Given the description of an element on the screen output the (x, y) to click on. 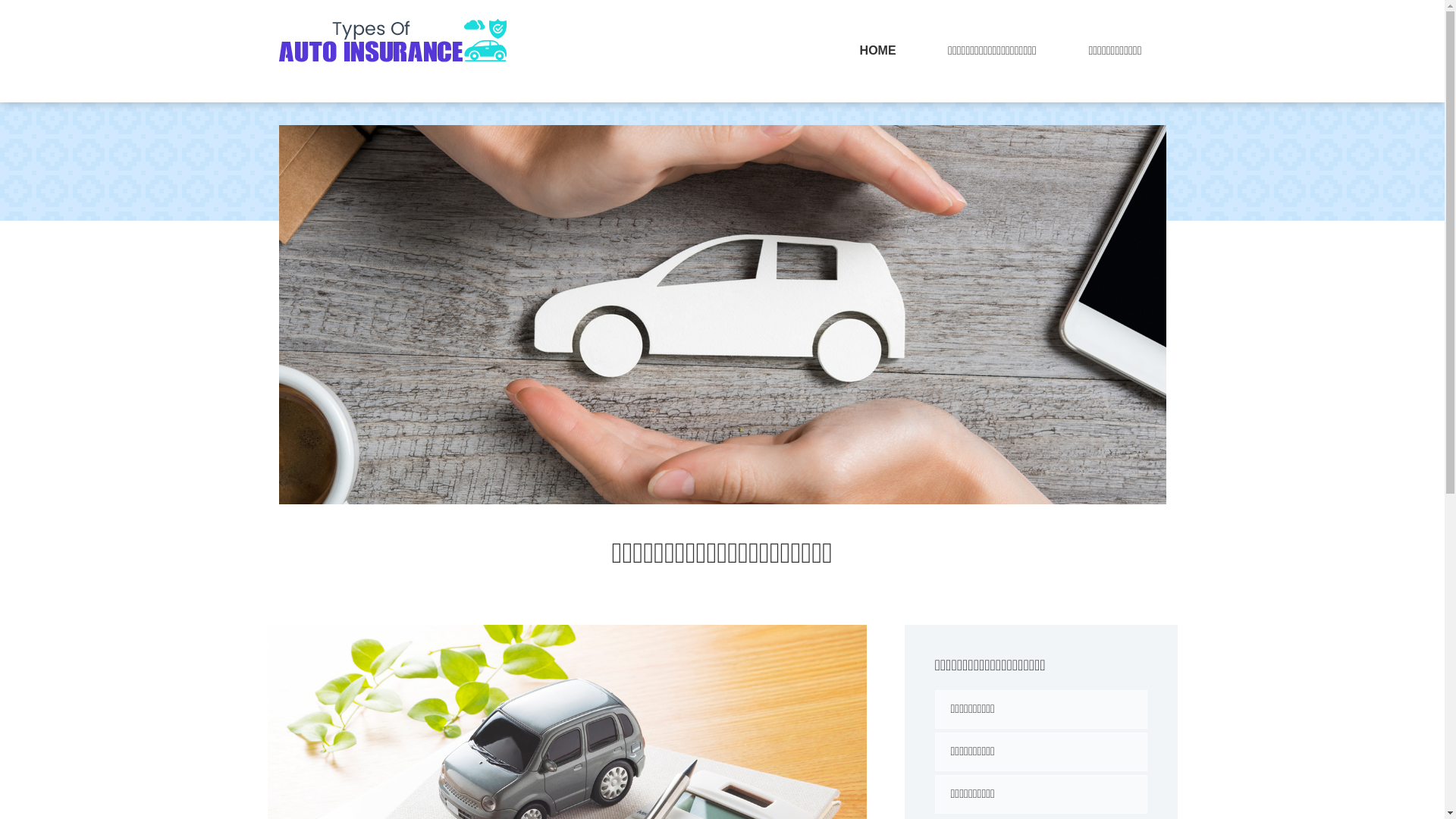
HOME Element type: text (878, 51)
